Given the description of an element on the screen output the (x, y) to click on. 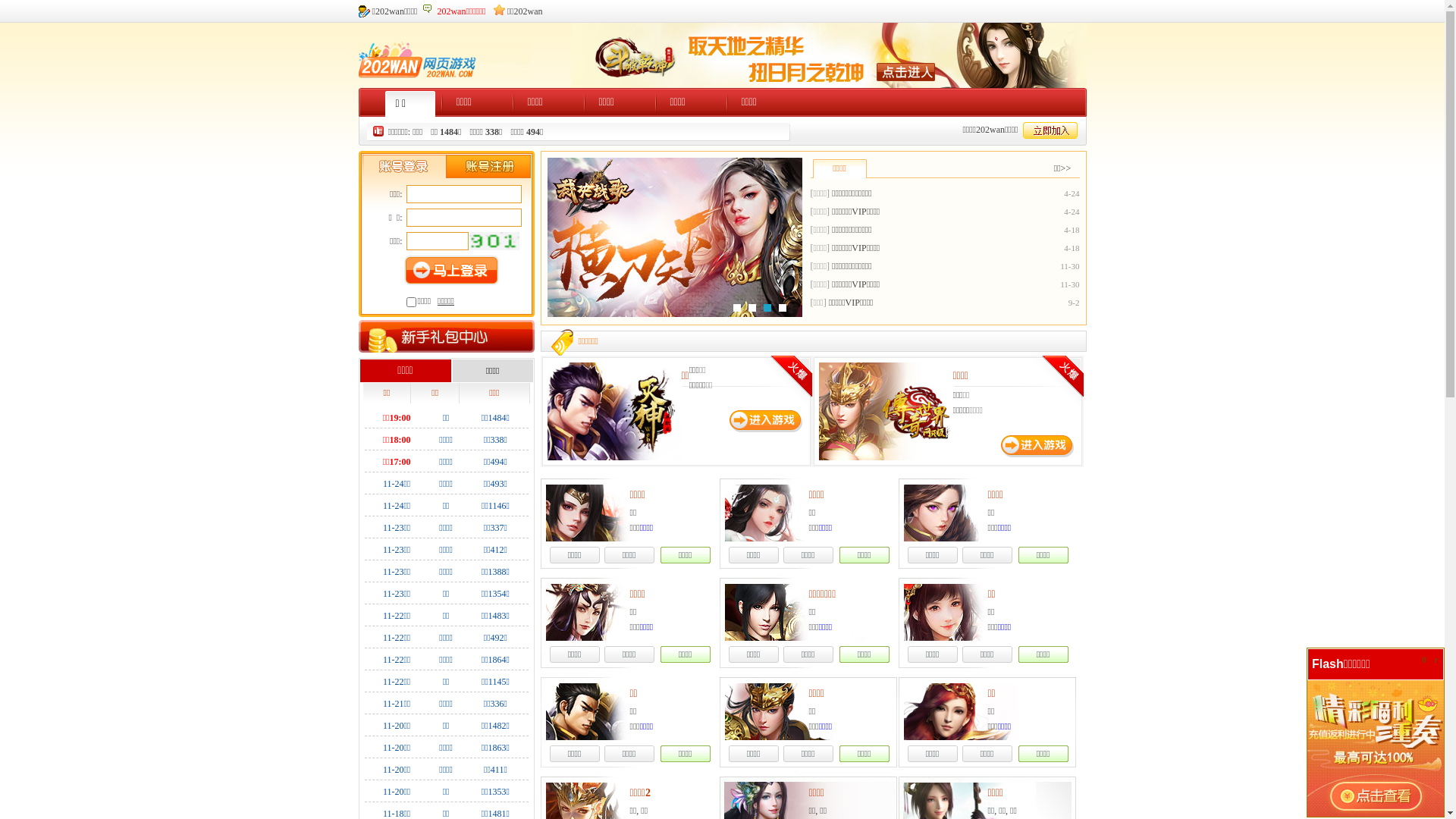
0 Element type: text (1423, 659)
r Element type: text (1435, 659)
